Given the description of an element on the screen output the (x, y) to click on. 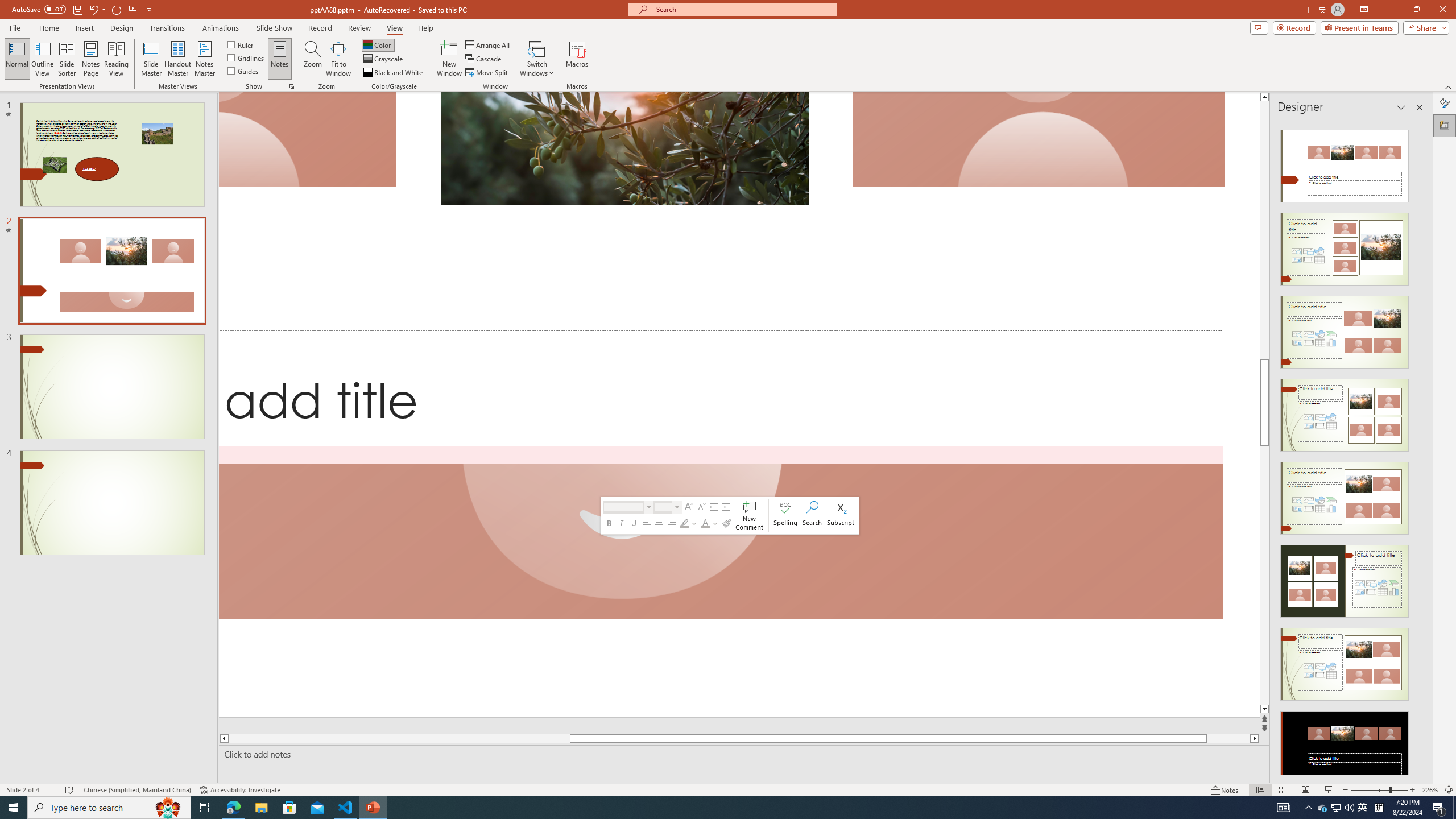
Close up of an olive branch on a sunset (625, 148)
Format Background (1444, 102)
Subscript (840, 515)
Fit to Window (338, 58)
Zoom 226% (1430, 790)
